Given the description of an element on the screen output the (x, y) to click on. 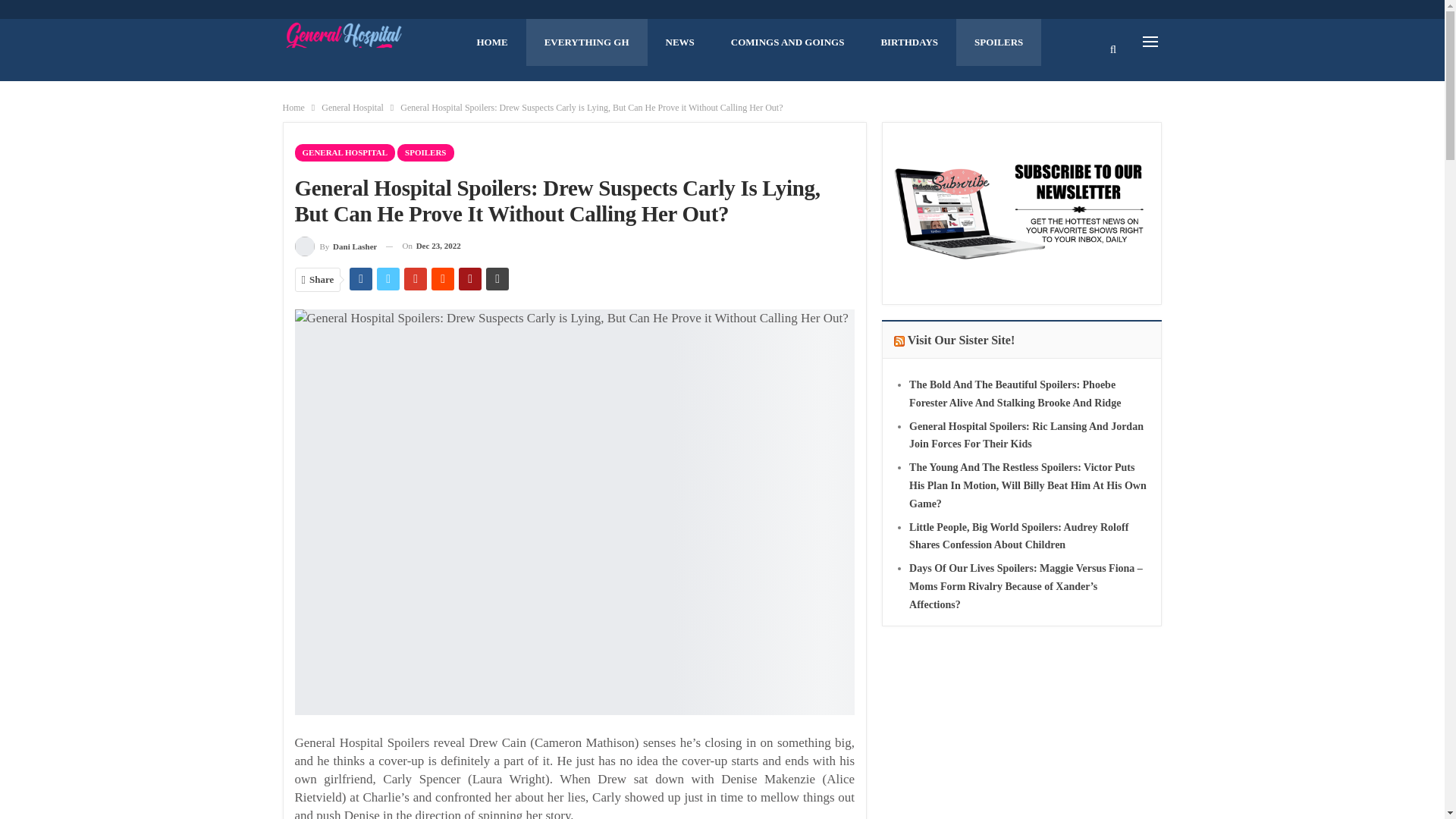
SPOILERS (424, 152)
Home (293, 107)
HOME (491, 42)
SPOILERS (998, 42)
EVERYTHING GH (586, 42)
COMINGS AND GOINGS (788, 42)
Browse Author Articles (335, 245)
GENERAL HOSPITAL (344, 152)
By Dani Lasher (335, 245)
NEWS (680, 42)
General Hospital (352, 107)
BIRTHDAYS (908, 42)
